Given the description of an element on the screen output the (x, y) to click on. 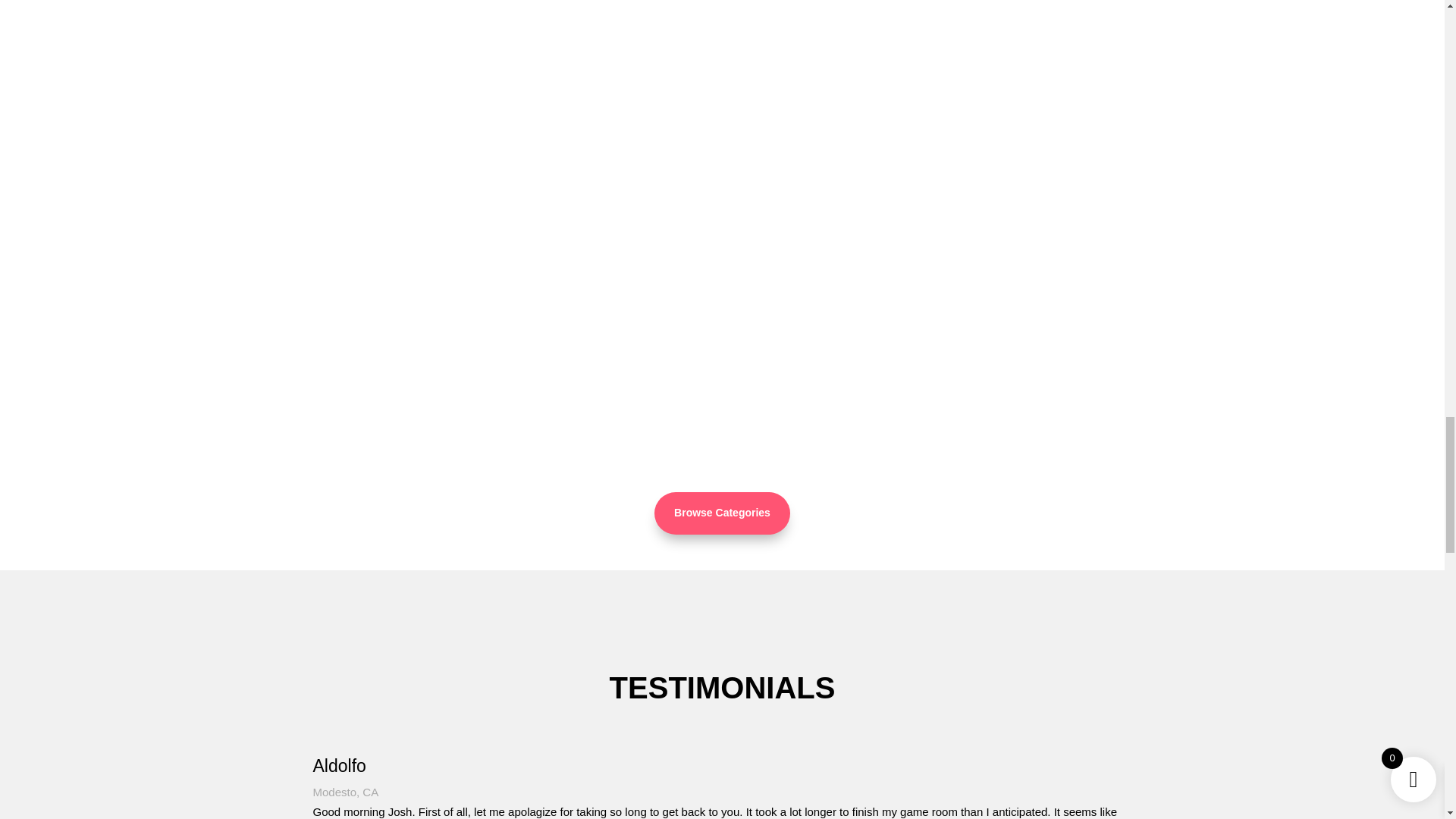
Browse Categories (721, 513)
